Given the description of an element on the screen output the (x, y) to click on. 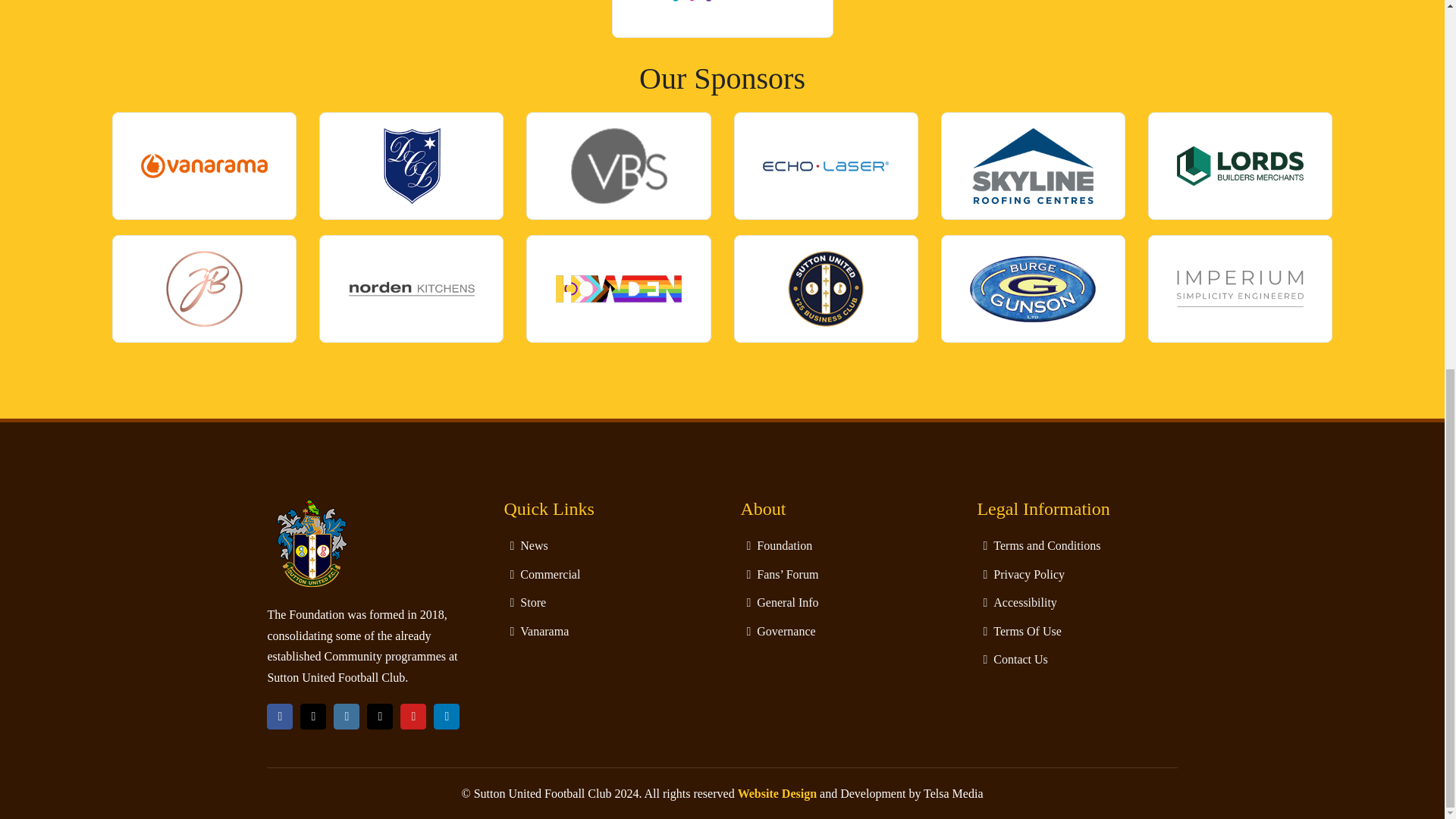
Instagram (346, 716)
LinkedIn (446, 716)
YouTube (413, 716)
Facebook (279, 716)
Tiktok (379, 716)
X (312, 716)
